Given the description of an element on the screen output the (x, y) to click on. 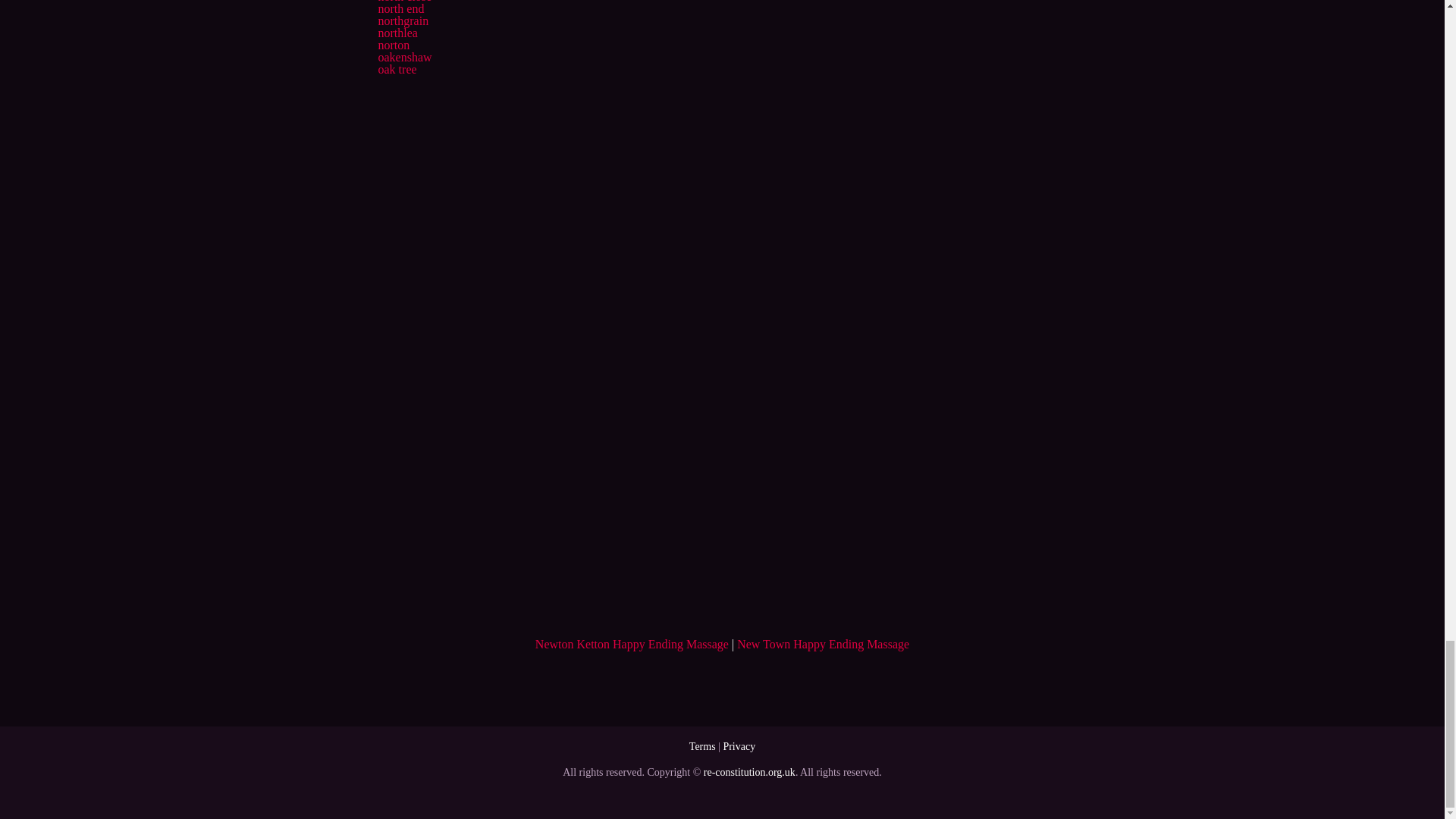
Terms (702, 746)
Terms (702, 746)
northgrain (402, 20)
Privacy (738, 746)
re-constitution.org.uk (748, 772)
Privacy (738, 746)
northlea (396, 32)
north end (400, 8)
Newton Ketton Happy Ending Massage (632, 644)
oakenshaw (403, 56)
